Given the description of an element on the screen output the (x, y) to click on. 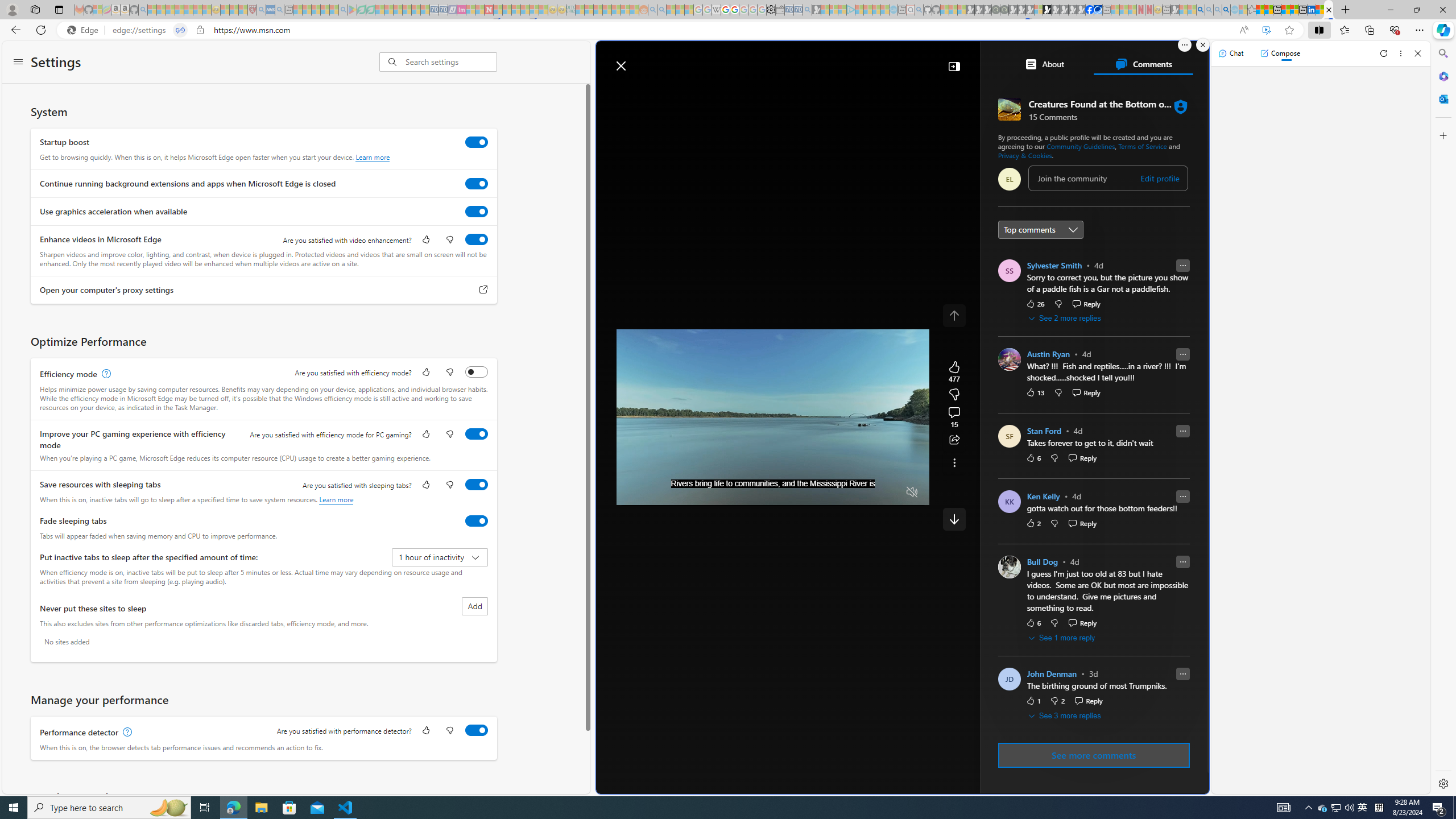
Improve your PC gaming experience with efficiency mode (476, 433)
More options. (1183, 45)
Enhance videos in Microsoft Edge (476, 238)
AutomationID: e5rZOEMGacU1 (954, 518)
Privacy Help Center - Policies Help (725, 9)
Add site to never put these sites to sleep list (474, 606)
ABC News (1037, 415)
